Given the description of an element on the screen output the (x, y) to click on. 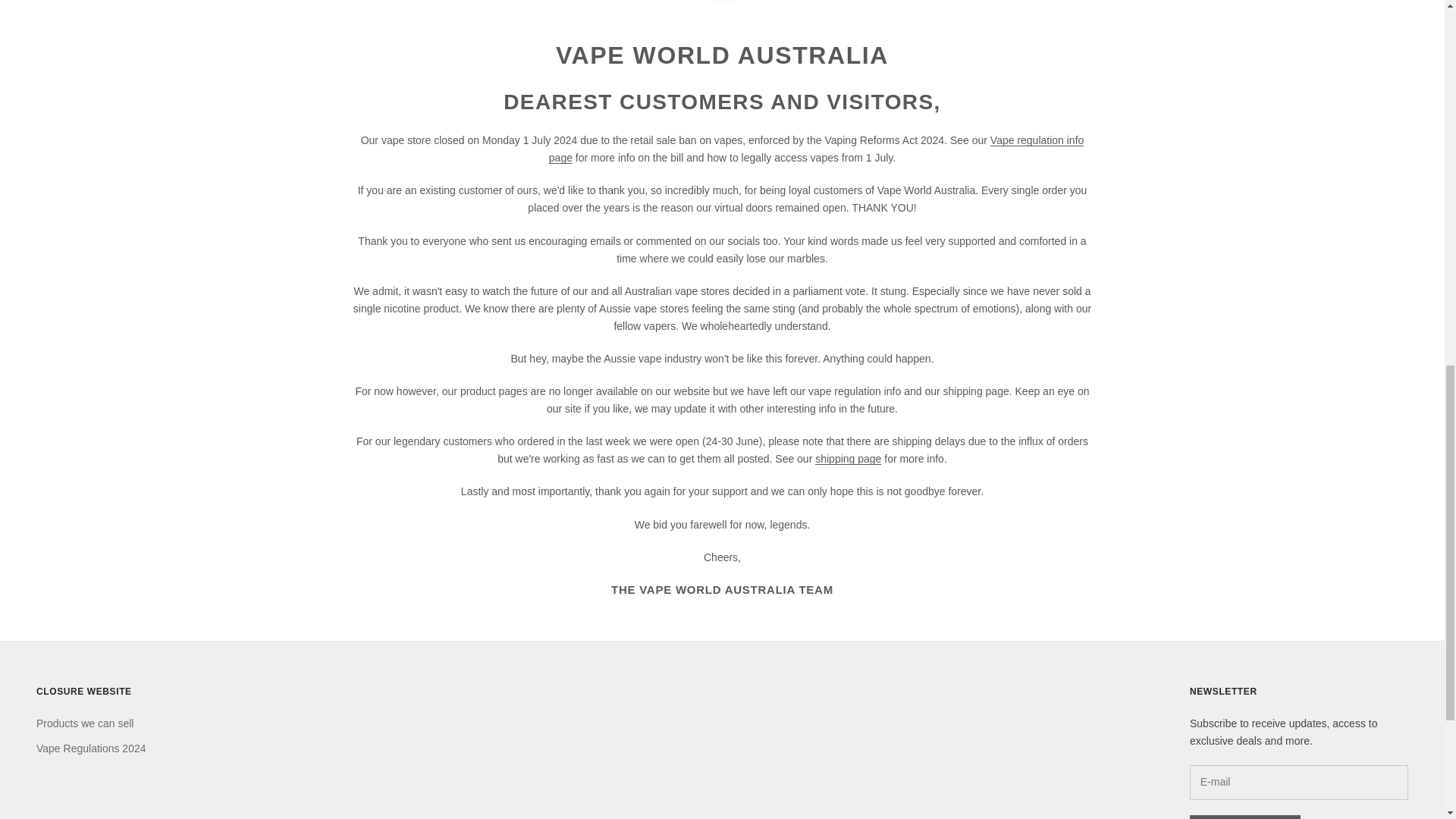
Products we can sell (84, 723)
Vape Regulations 2024 (91, 748)
shipping page (847, 458)
Vape regulation info page (816, 148)
SUBSCRIBE (1244, 816)
